Given the description of an element on the screen output the (x, y) to click on. 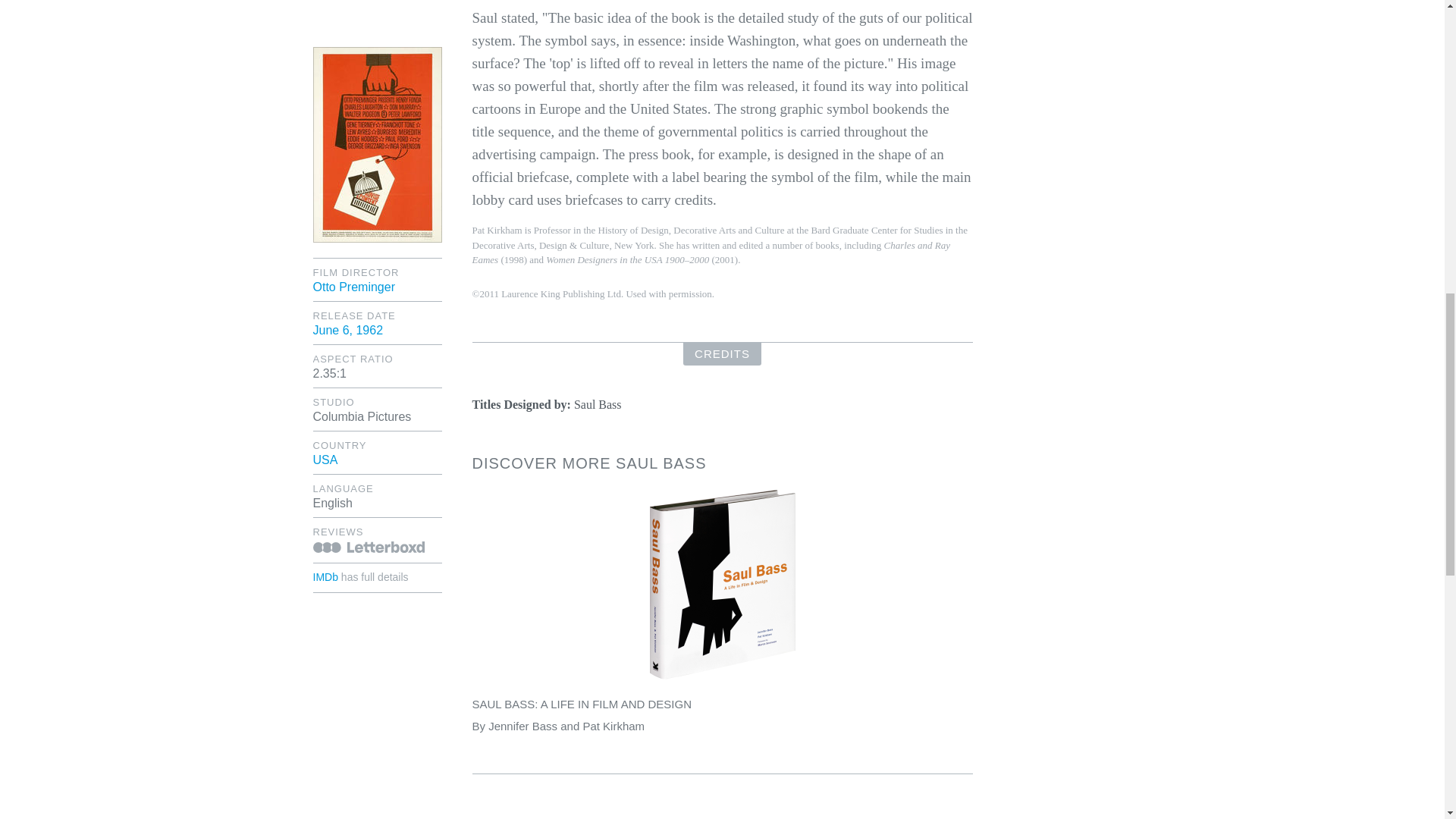
Otto Preminger (353, 286)
June 6, 1962 (347, 329)
Reviews on Letterboxd (368, 546)
USA (325, 459)
IMDb (325, 576)
CREDITS (721, 354)
